Given the description of an element on the screen output the (x, y) to click on. 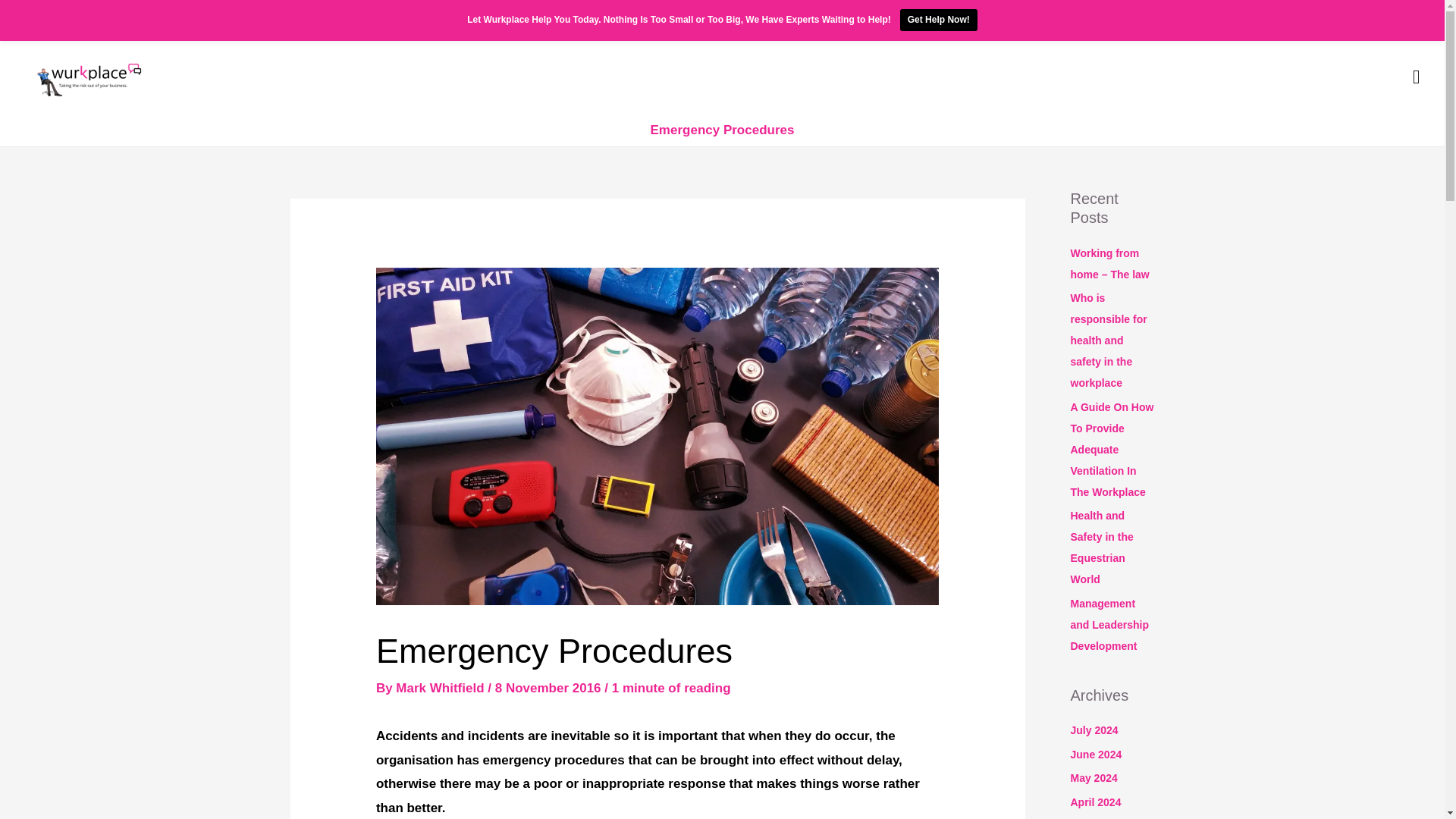
View all posts by Mark Whitfield (441, 687)
